Given the description of an element on the screen output the (x, y) to click on. 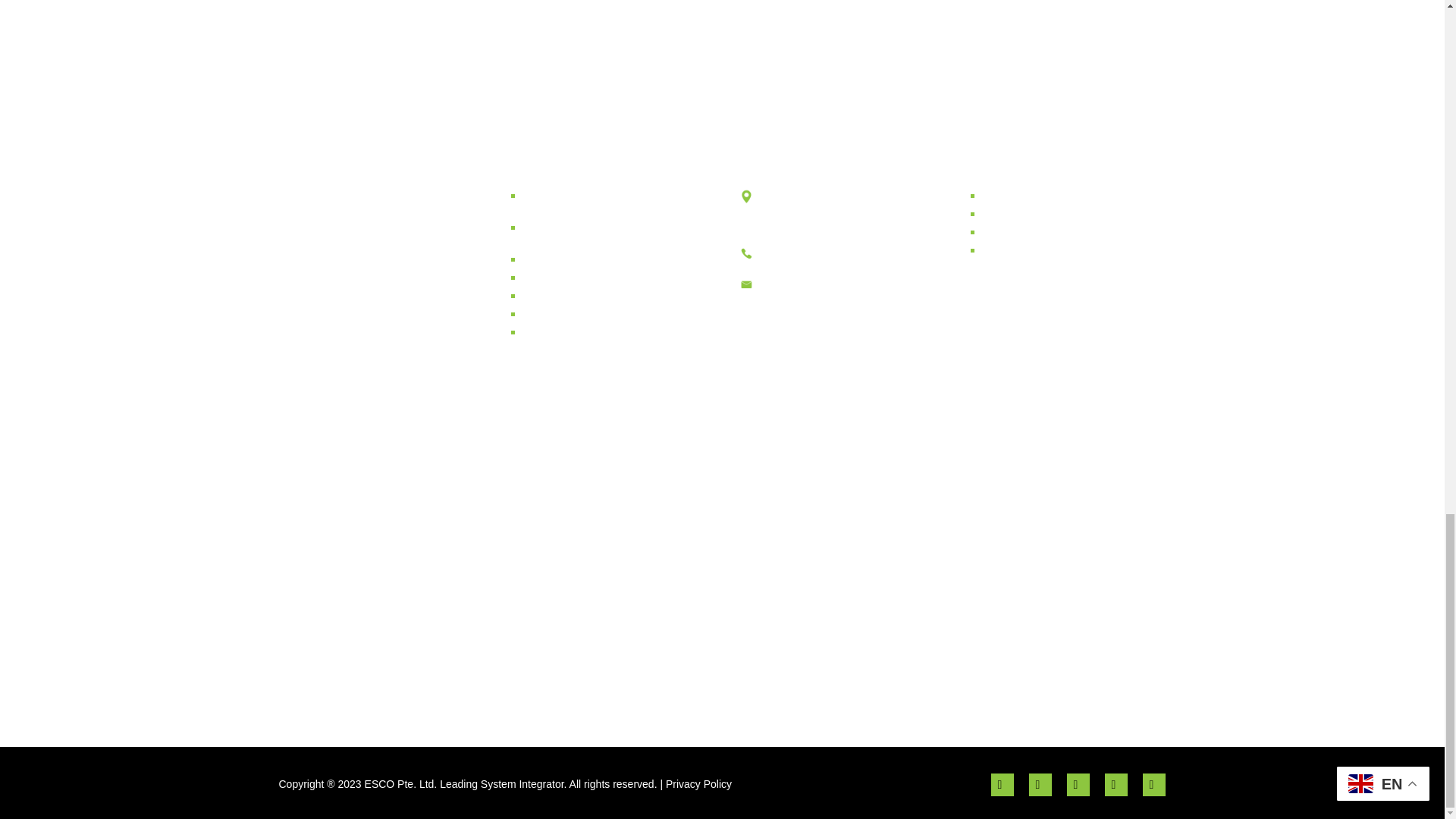
BCA registered contractor (645, 658)
esco-full-logo (365, 226)
GPA logo (952, 658)
Integrated Security (577, 292)
Video Conferencing and Collaboration (592, 231)
BizSafe star (339, 658)
Smart Room Automation (593, 274)
ISO 9001:2015 (492, 658)
footer-4-logo-1 (799, 658)
Integrated Audio Solutions (598, 256)
Hostile Mitigation (573, 310)
ESCO Care (559, 328)
Projection and Display Technology (587, 199)
